Given the description of an element on the screen output the (x, y) to click on. 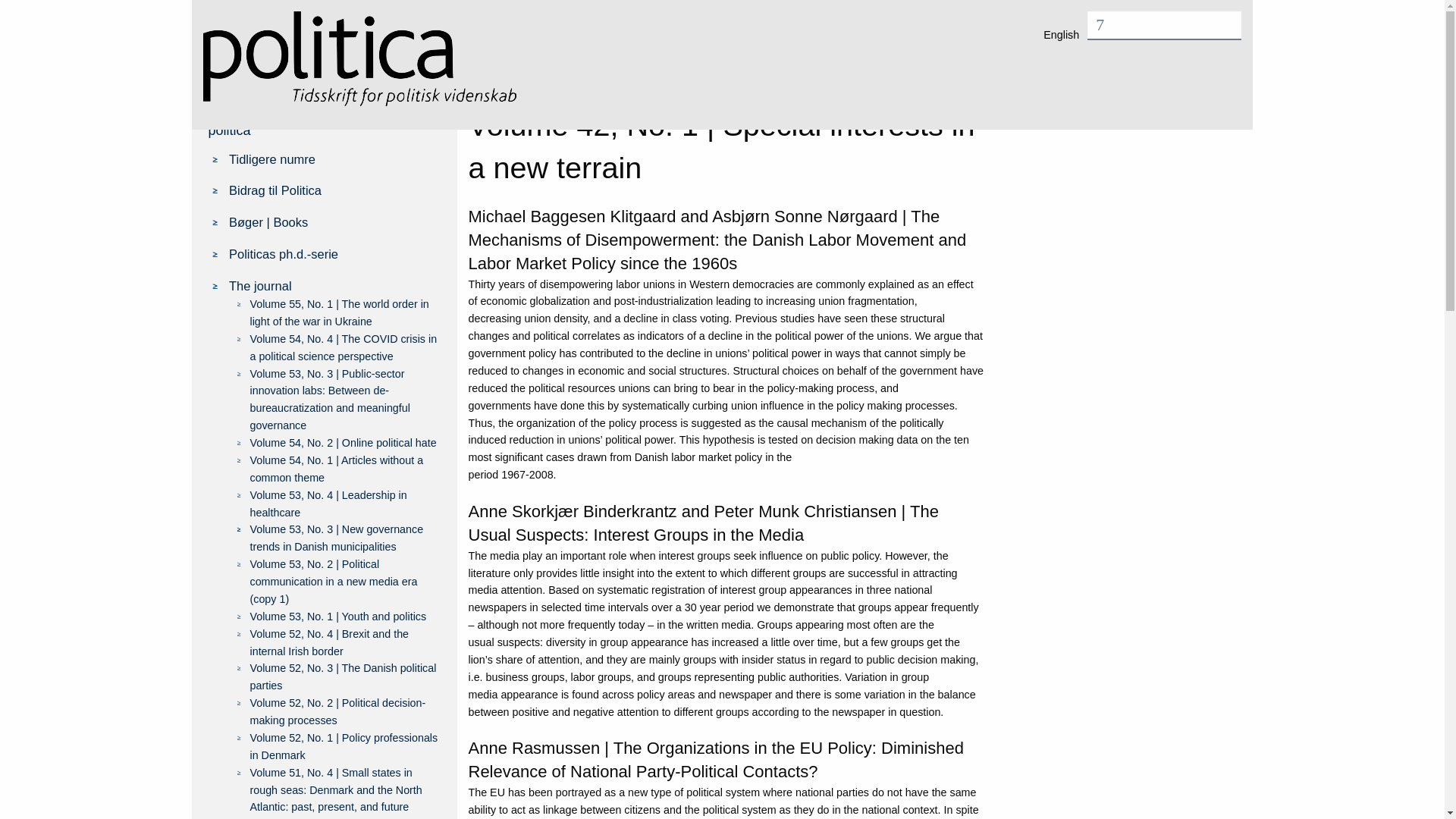
Tidligere numre (334, 158)
Politicas ph.d.-serie (334, 253)
English (1066, 31)
politica (229, 130)
The journal (334, 285)
The journal (1001, 88)
Bidrag til Politica (334, 189)
English (1066, 31)
